Given the description of an element on the screen output the (x, y) to click on. 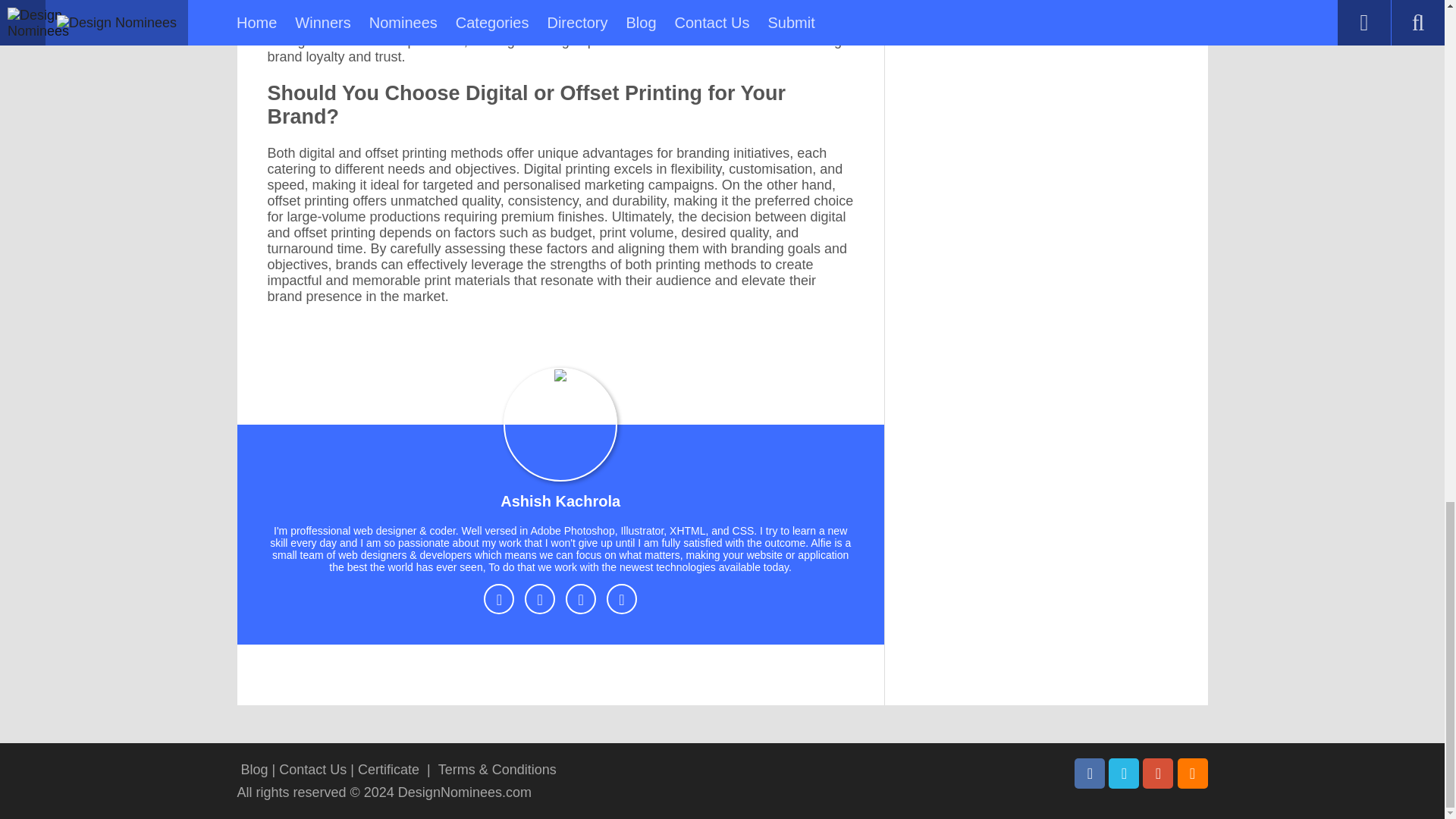
linkedin (622, 598)
Facebook (1089, 773)
Twitter (1123, 773)
Pinterest (1157, 773)
Ashish Kachrola (560, 503)
Rss (1191, 773)
